Given the description of an element on the screen output the (x, y) to click on. 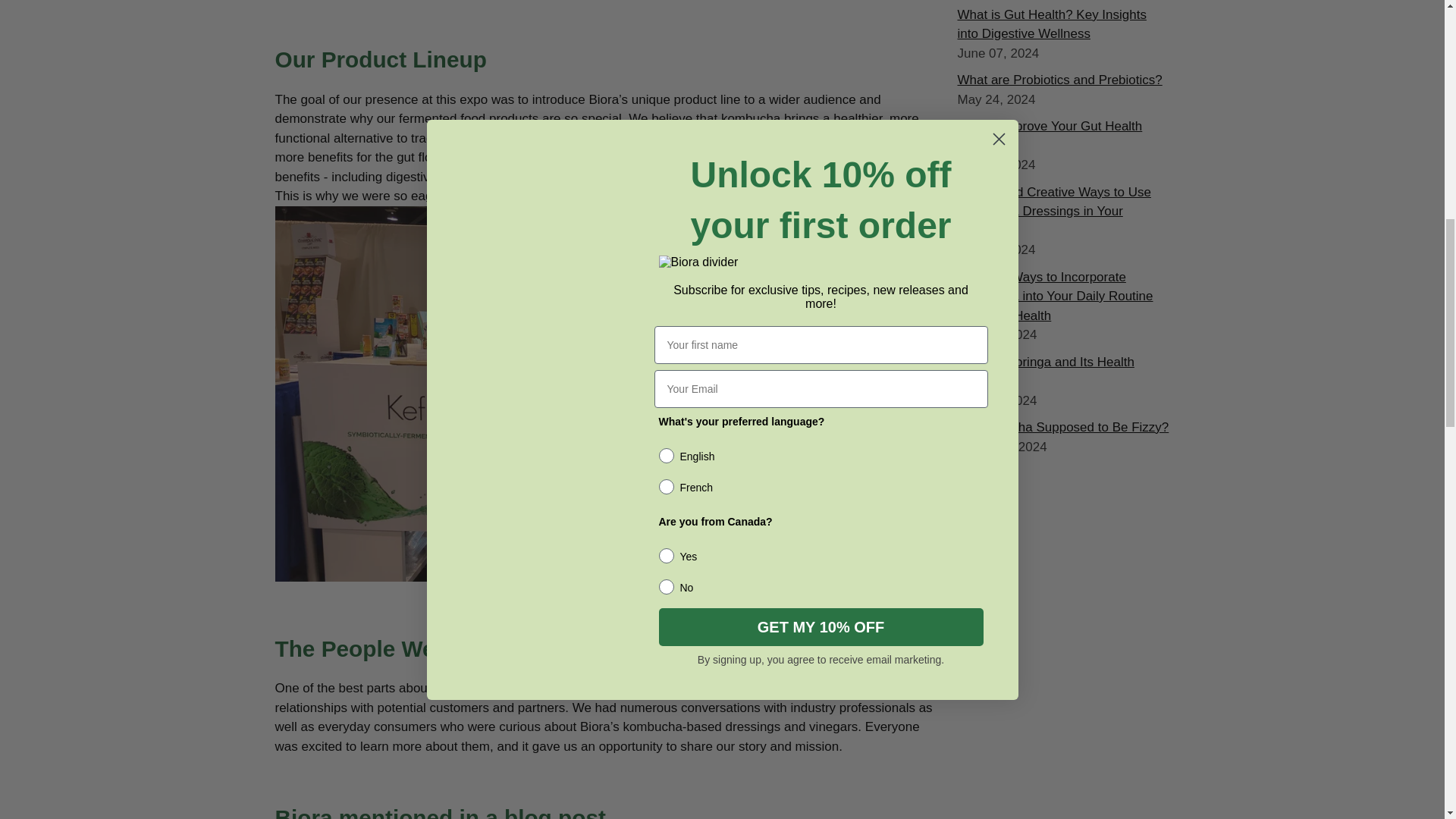
Is Kombucha Supposed to Be Fizzy? (1062, 427)
What is Gut Health? Key Insights into Digestive Wellness (1050, 24)
What are Probiotics and Prebiotics? (1058, 79)
How to Improve Your Gut Health Naturally (1048, 135)
What Is Moringa and Its Health Benefits? (1045, 371)
What is Gut Health? Key Insights into Digestive Wellness (1050, 24)
How to Improve Your Gut Health Naturally (1048, 135)
What are Probiotics and Prebiotics? (1058, 79)
